Given the description of an element on the screen output the (x, y) to click on. 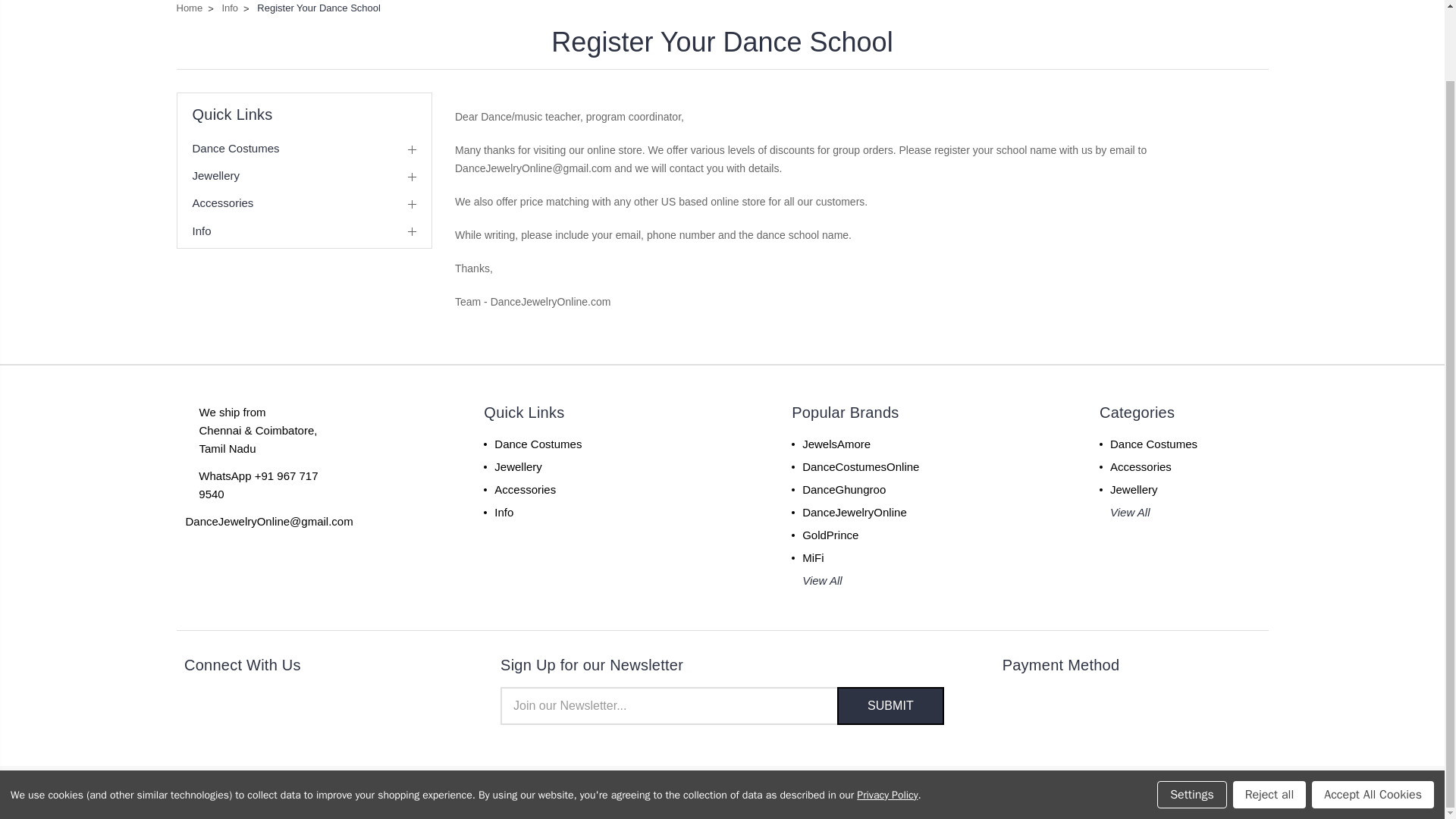
submit (890, 705)
